Given the description of an element on the screen output the (x, y) to click on. 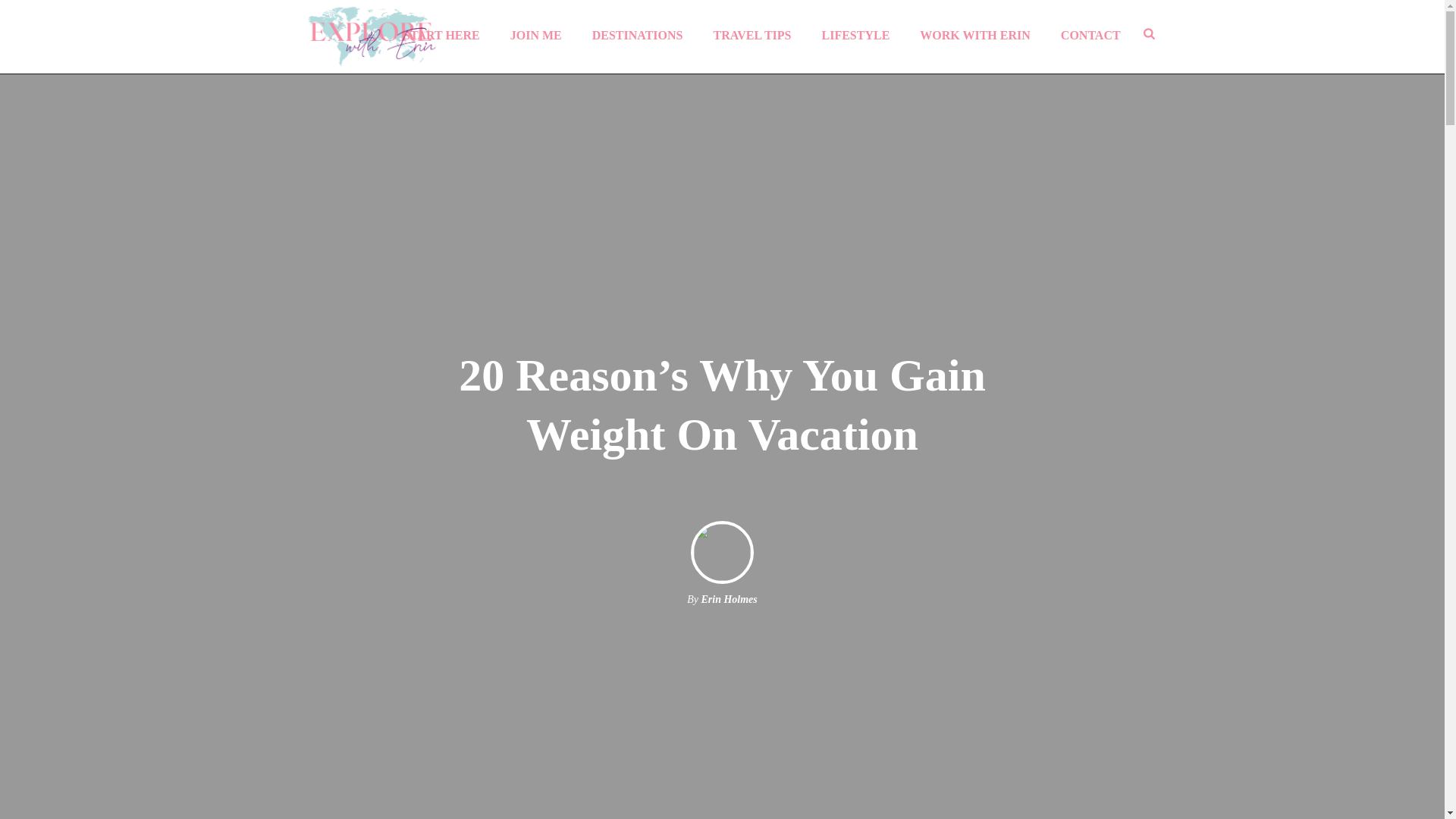
DESTINATIONS (637, 33)
JOIN ME (535, 33)
WORK WITH ERIN (974, 33)
START HERE (441, 33)
START HERE (441, 33)
Travel, Food, Lifestyle (371, 33)
DESTINATIONS (637, 33)
TRAVEL TIPS (751, 33)
LIFESTYLE (855, 33)
CONTACT (1090, 33)
